Given the description of an element on the screen output the (x, y) to click on. 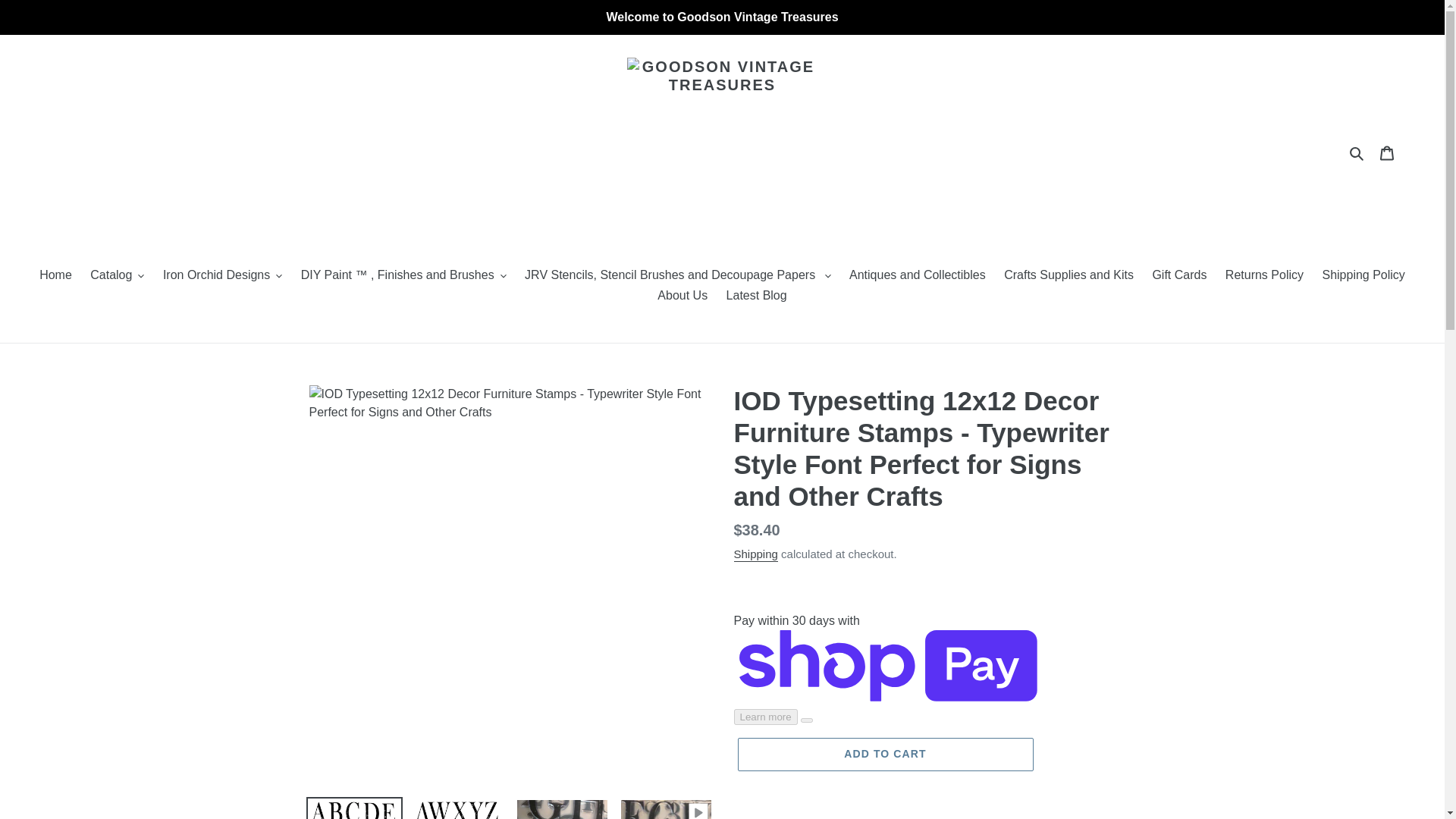
Search (1357, 152)
Cart (1387, 151)
